Given the description of an element on the screen output the (x, y) to click on. 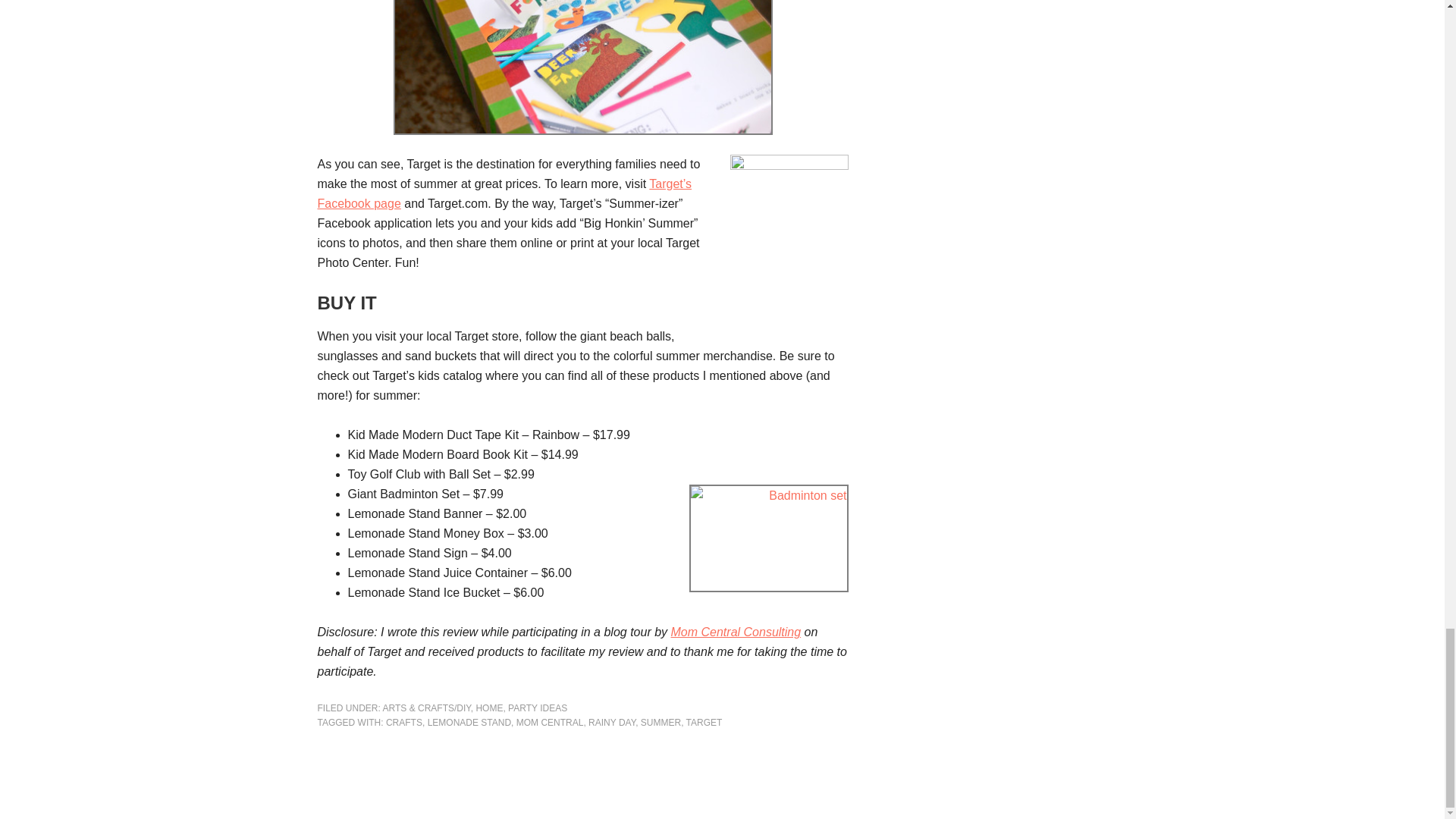
board book kit by MrsMarianaP, on Flickr (582, 67)
